Given the description of an element on the screen output the (x, y) to click on. 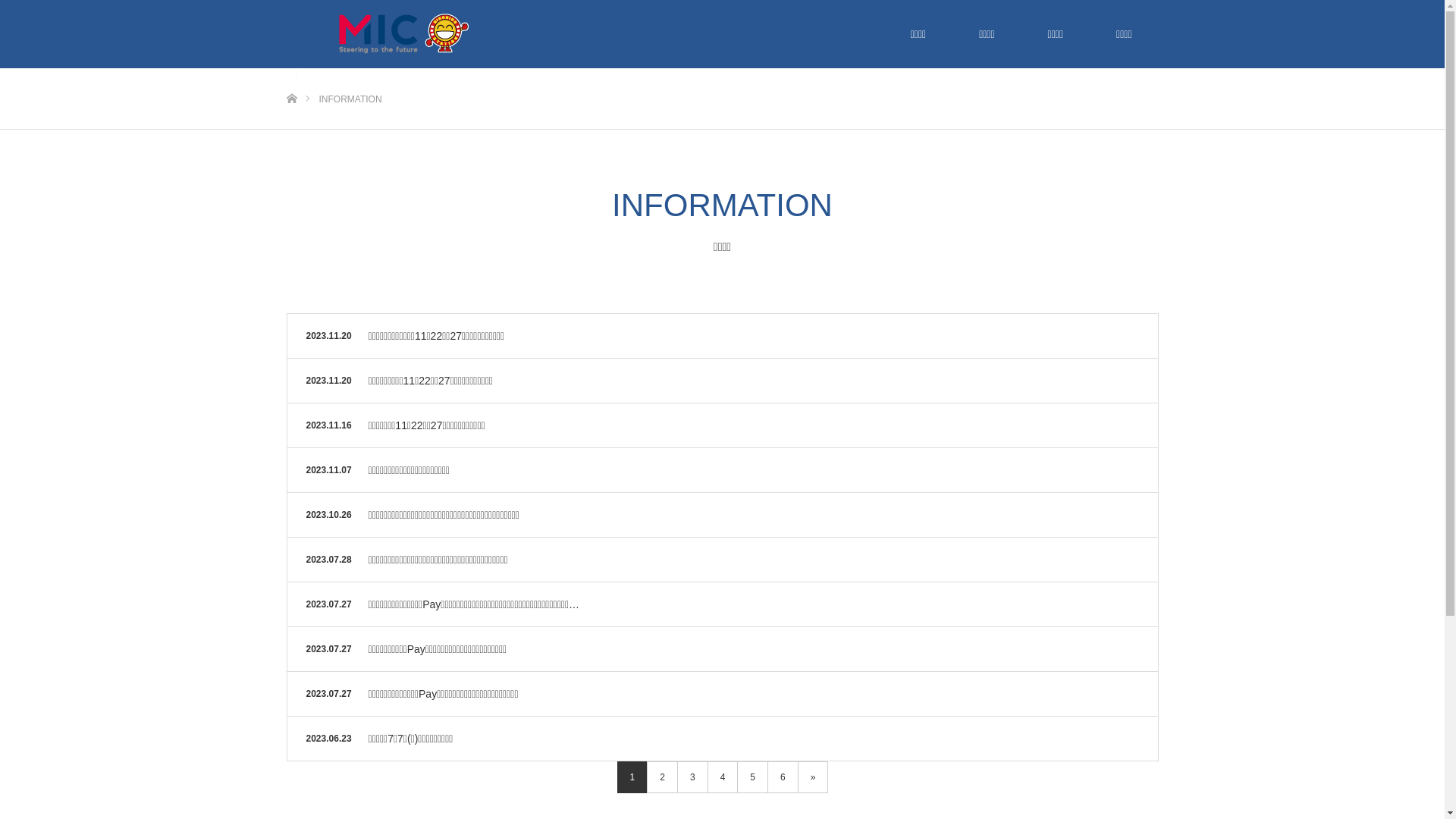
4 Element type: text (722, 777)
2 Element type: text (661, 777)
3 Element type: text (692, 777)
6 Element type: text (782, 777)
5 Element type: text (752, 777)
